Given the description of an element on the screen output the (x, y) to click on. 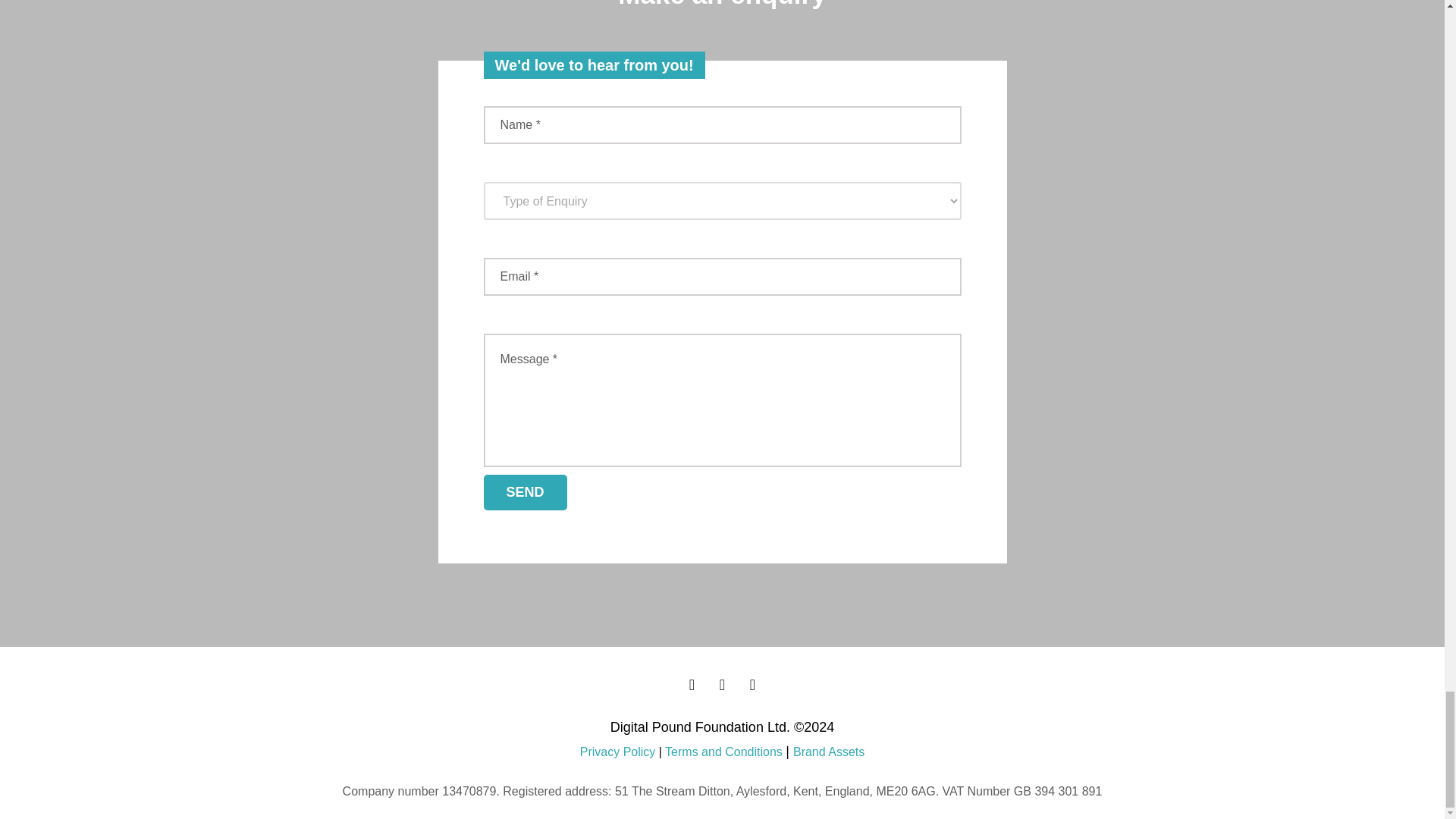
Send (525, 492)
